Given the description of an element on the screen output the (x, y) to click on. 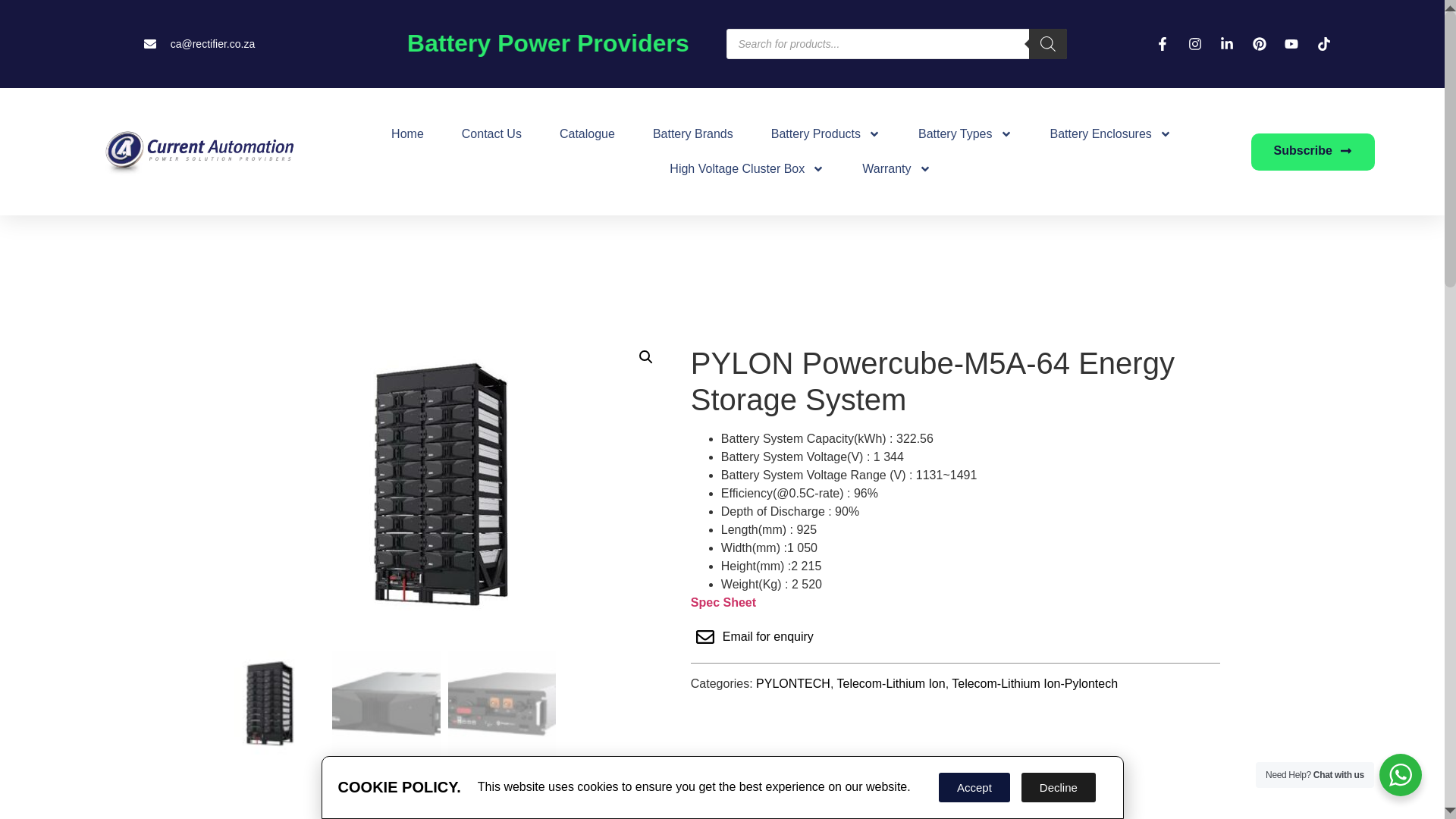
Catalogue (586, 134)
Battery Brands (692, 134)
PYLON Powercube-M5A-64 02 (898, 462)
Contact Us (491, 134)
Battery Products (825, 134)
Home (407, 134)
